Given the description of an element on the screen output the (x, y) to click on. 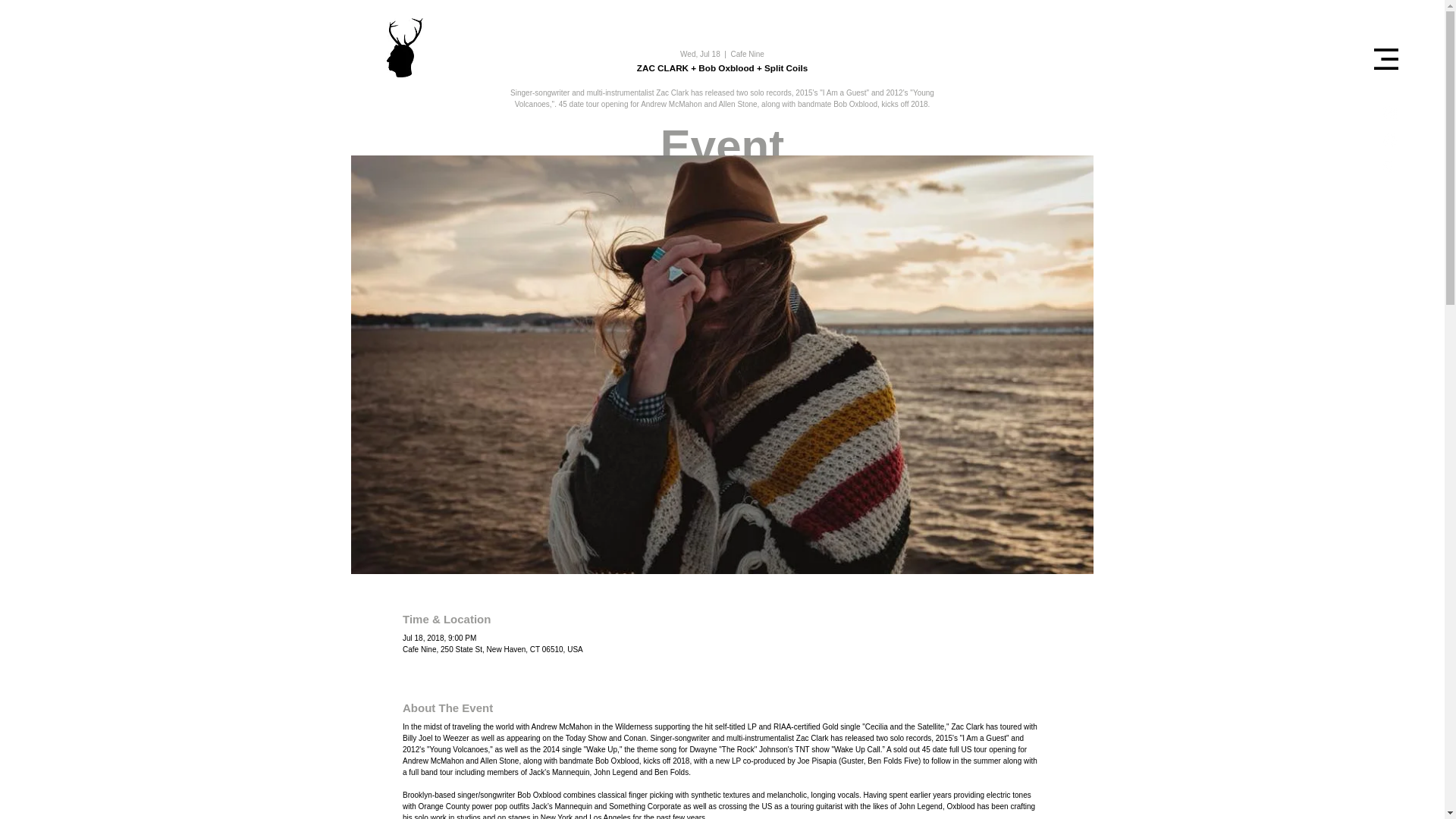
View More (714, 482)
Video (846, 309)
